Given the description of an element on the screen output the (x, y) to click on. 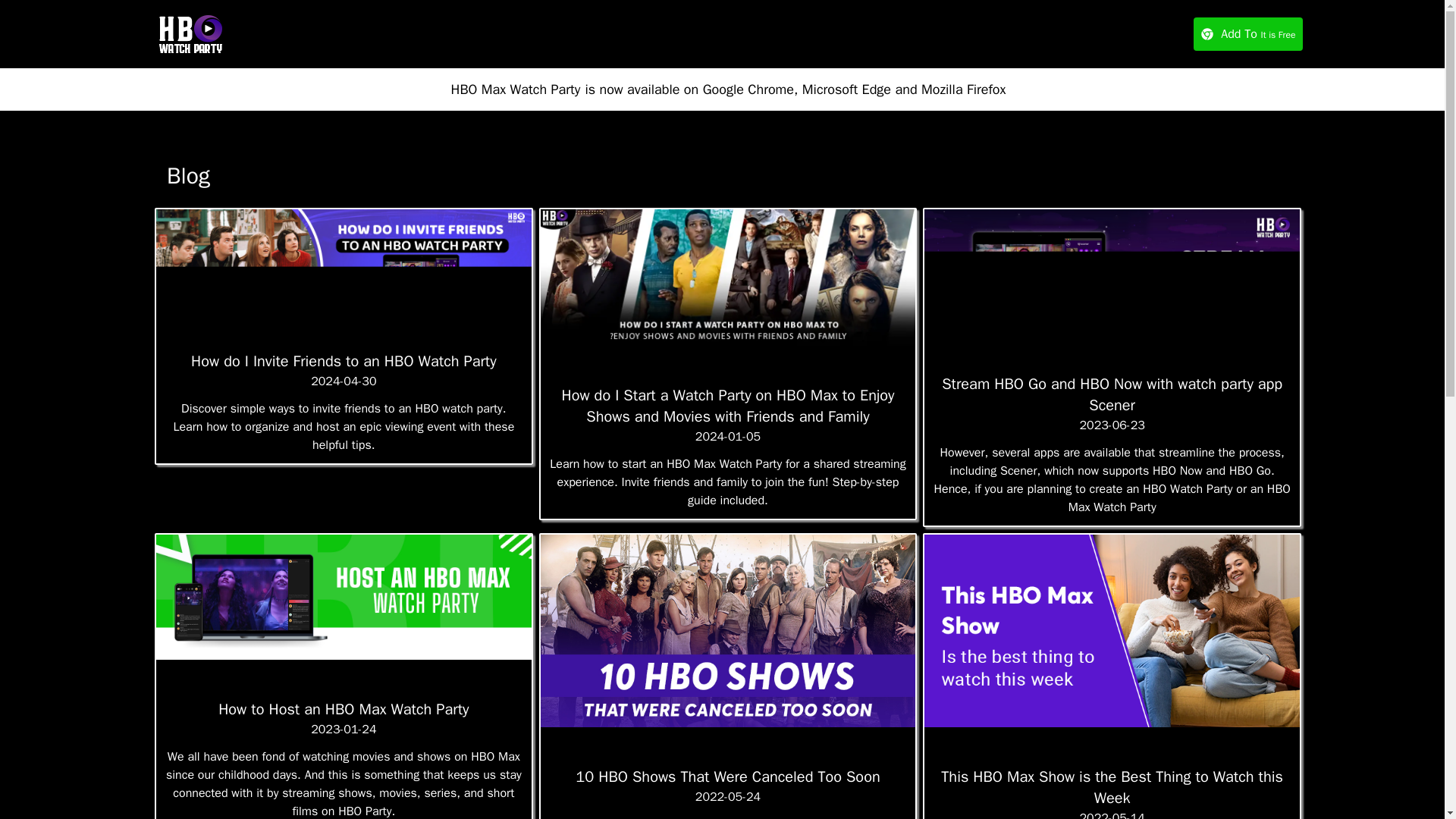
Add To It is Free (1248, 33)
